Given the description of an element on the screen output the (x, y) to click on. 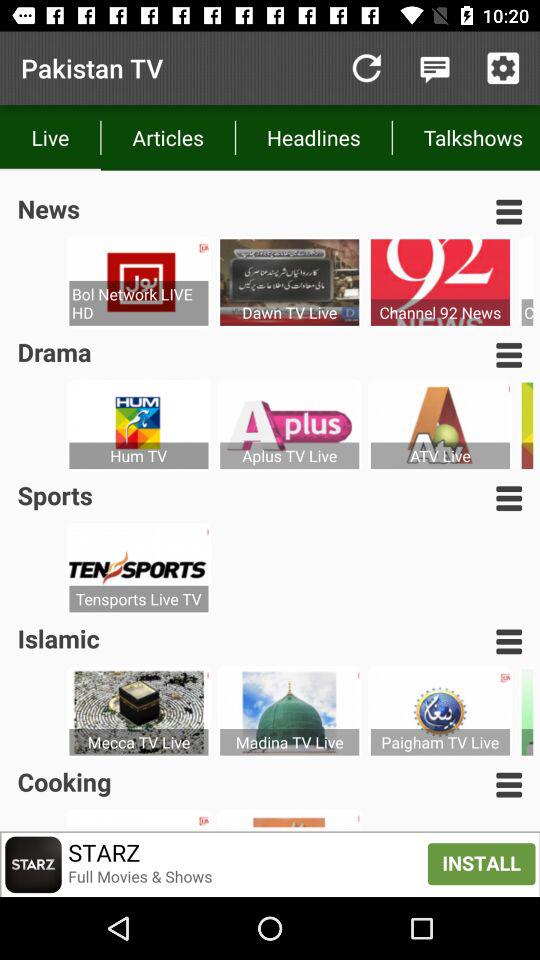
bottom advertisement (270, 864)
